Given the description of an element on the screen output the (x, y) to click on. 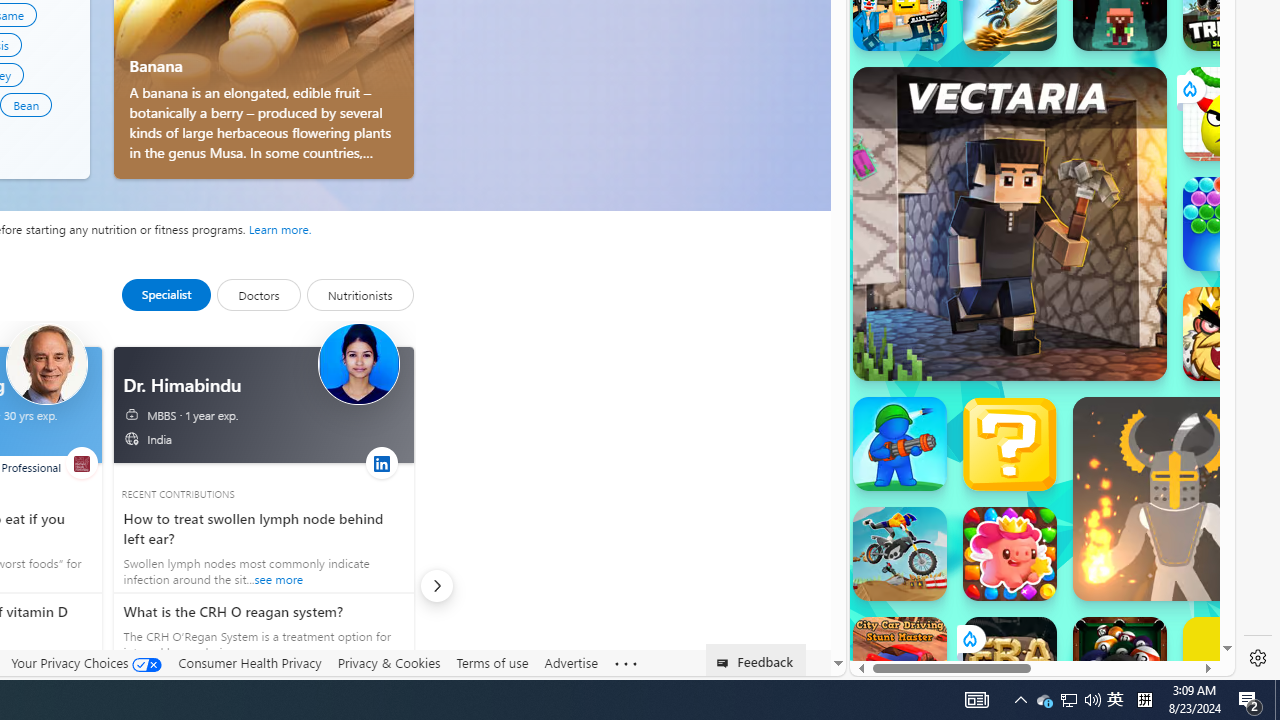
Class: oneFooter_seeMore-DS-EntryPoint1-1 (625, 663)
Era: Evolution Era: Evolution (1009, 664)
Mystery Tile (1009, 443)
Class: feedback_link_icon-DS-EntryPoint1-1 (726, 663)
Hills of Steel (925, 290)
Vectaria.io Vectaria.io (1009, 223)
website (80, 462)
SUBWAY SURFERS - Play Online for Free! | Poki (1034, 624)
Health professional icon - Dr. Robert H. Shmerling (46, 363)
